Given the description of an element on the screen output the (x, y) to click on. 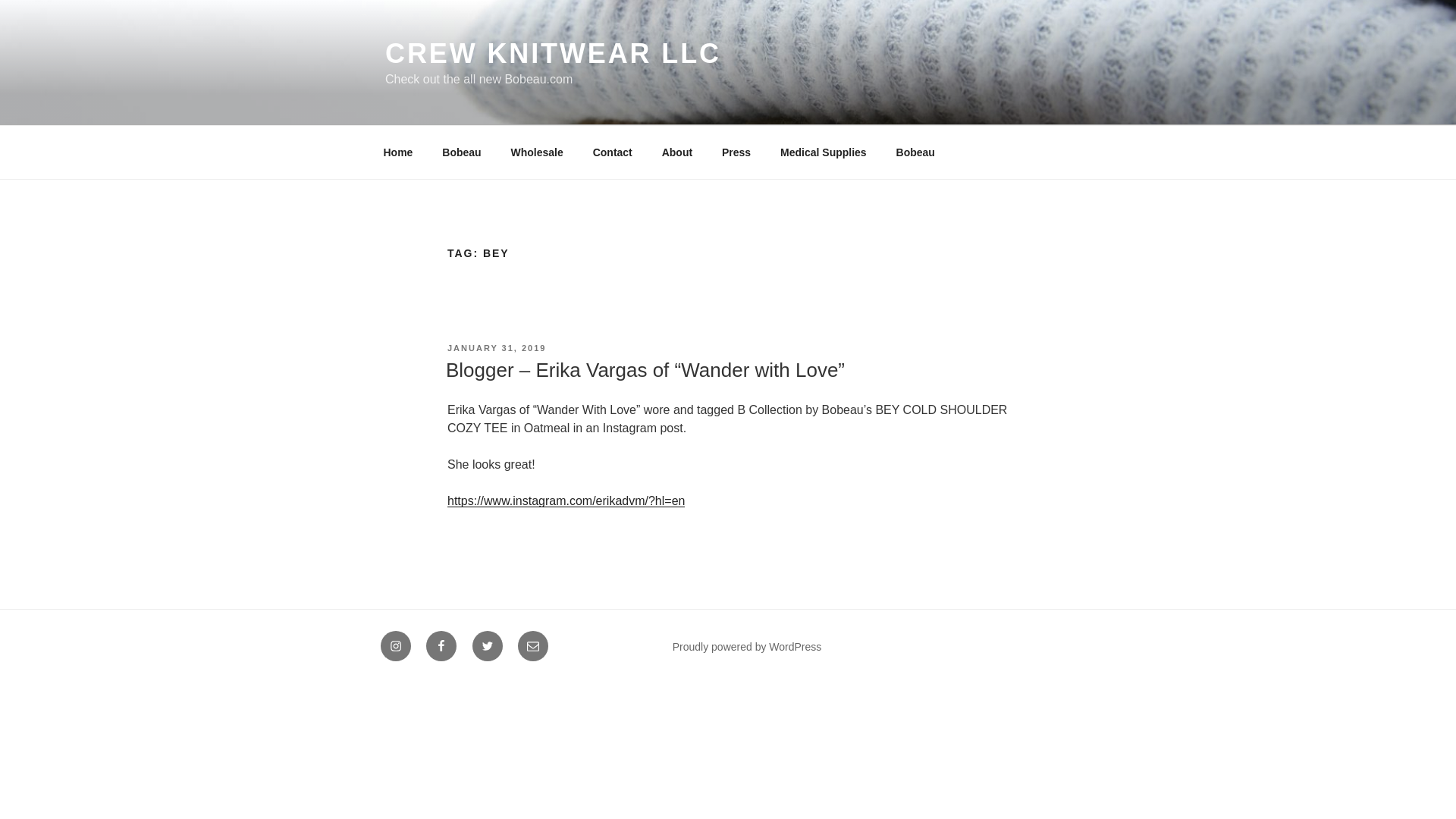
Home (397, 151)
Contact (612, 151)
Medical Supplies (823, 151)
CREW KNITWEAR LLC (552, 52)
Bobeau (914, 151)
Press (736, 151)
JANUARY 31, 2019 (496, 347)
Facebook (441, 645)
About (675, 151)
Bobeau (462, 151)
